Given the description of an element on the screen output the (x, y) to click on. 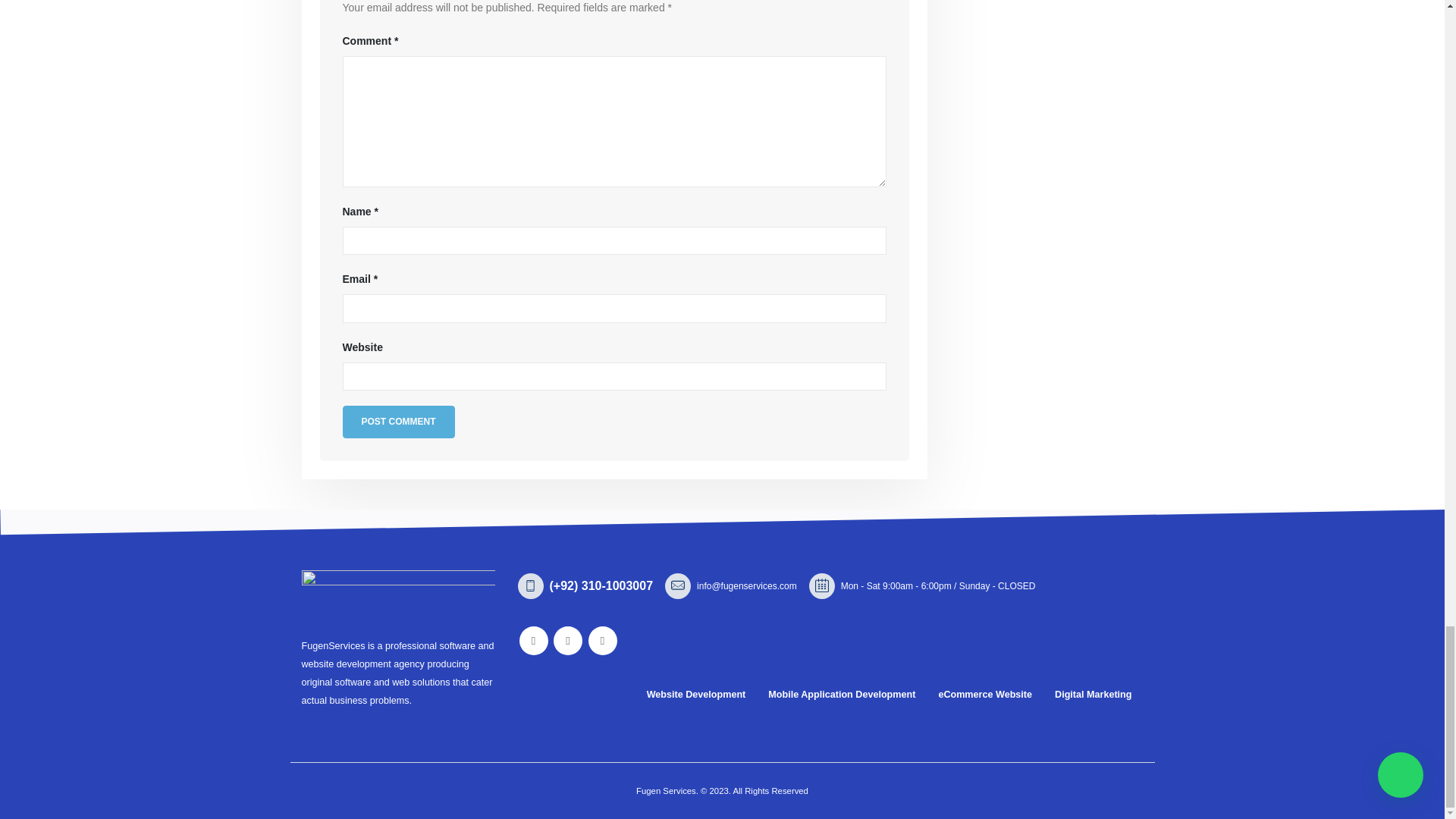
Instagram (567, 640)
Post Comment (398, 421)
Facebook (532, 640)
Linkedin (602, 640)
